Given the description of an element on the screen output the (x, y) to click on. 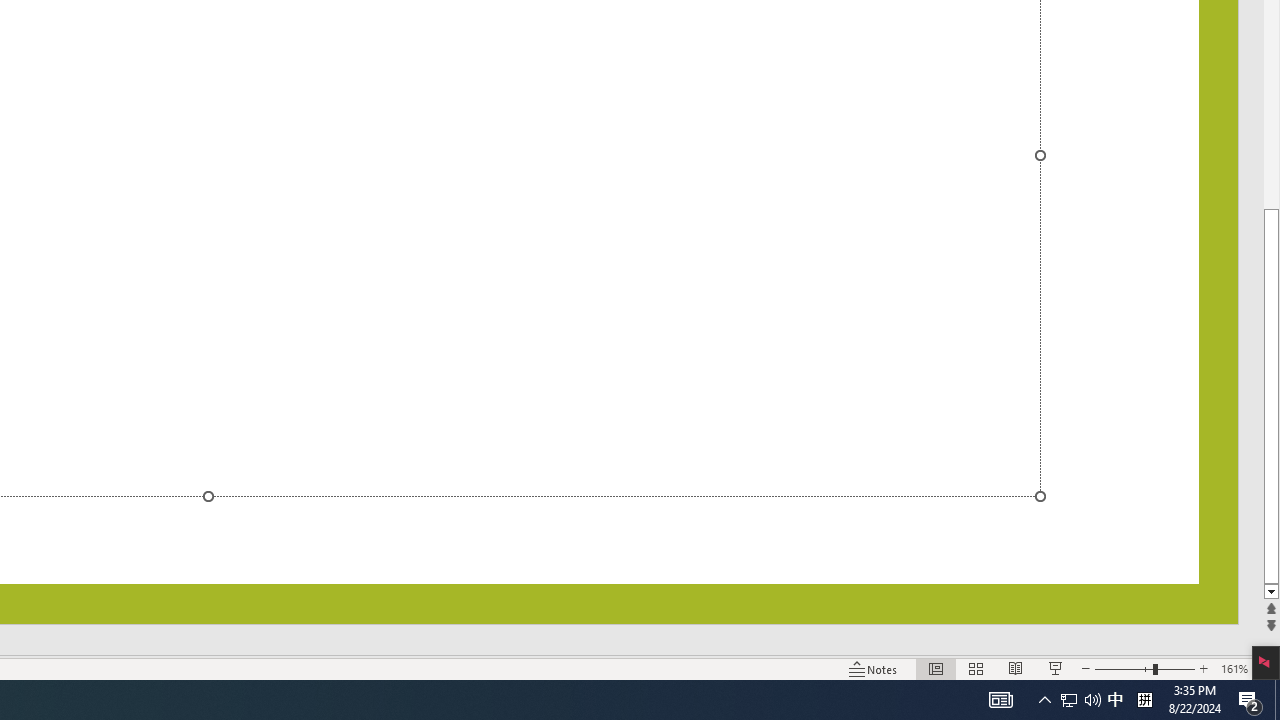
Zoom 161% (1234, 668)
AutomationID: 4105 (1000, 699)
Tray Input Indicator - Chinese (Simplified, China) (1144, 699)
Show desktop (1115, 699)
Action Center, 2 new notifications (1277, 699)
Q2790: 100% (1250, 699)
User Promoted Notification Area (1092, 699)
Notification Chevron (1080, 699)
